Given the description of an element on the screen output the (x, y) to click on. 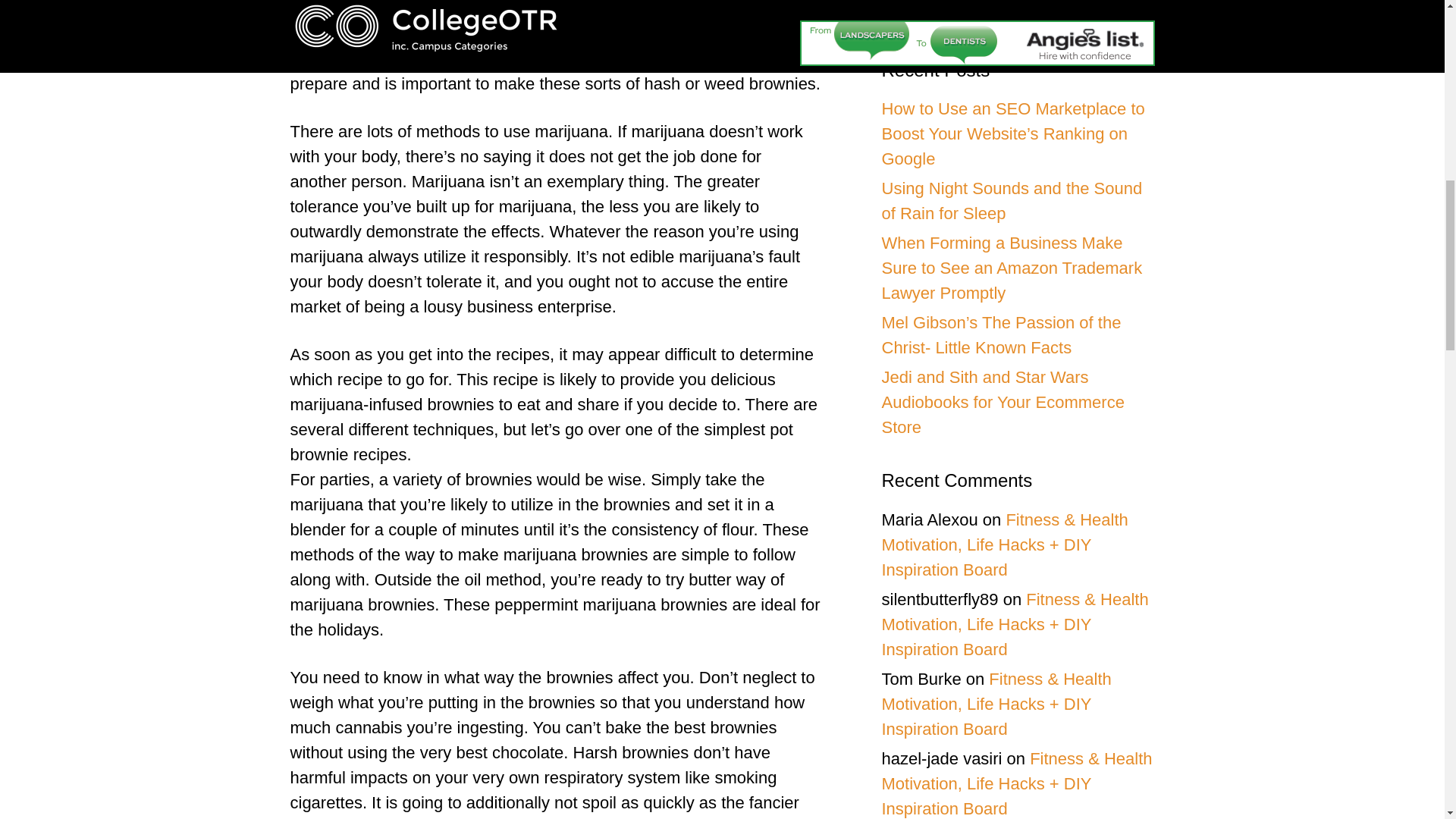
Using Night Sounds and the Sound of Rain for Sleep (1010, 200)
